Given the description of an element on the screen output the (x, y) to click on. 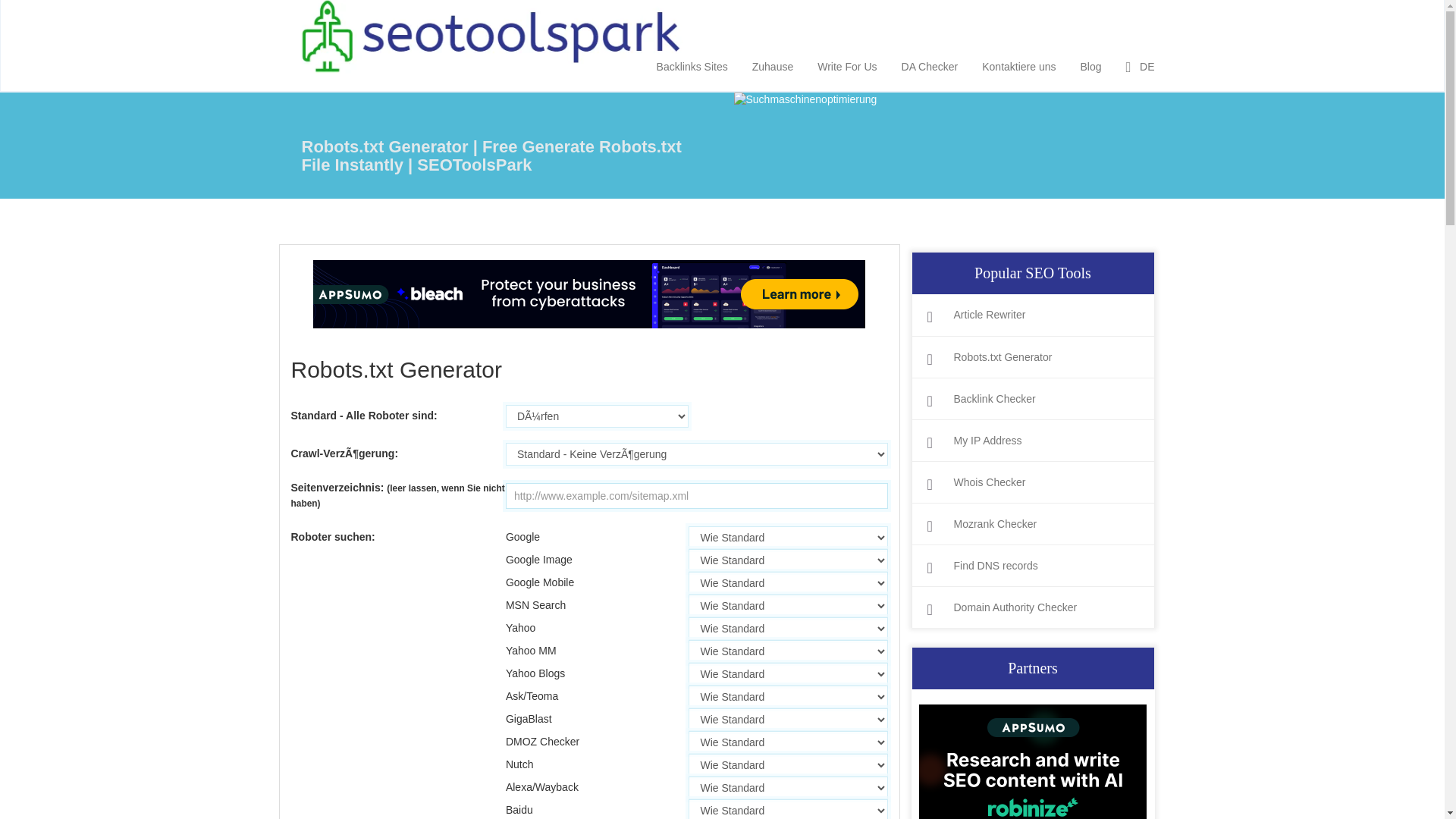
DA Checker (929, 64)
Find DNS records (1031, 565)
Robots.txt Generator (1031, 357)
Whois Checker (1031, 482)
Mozrank Checker (1031, 524)
Write For Us (847, 64)
Kontaktiere uns (1019, 64)
Article Rewriter (1031, 315)
  DE (1140, 64)
My IP Address (1031, 440)
Backlink Checker (1031, 398)
Zuhause (773, 64)
Domain Authority Checker (1031, 607)
Backlinks Sites (692, 64)
